Given the description of an element on the screen output the (x, y) to click on. 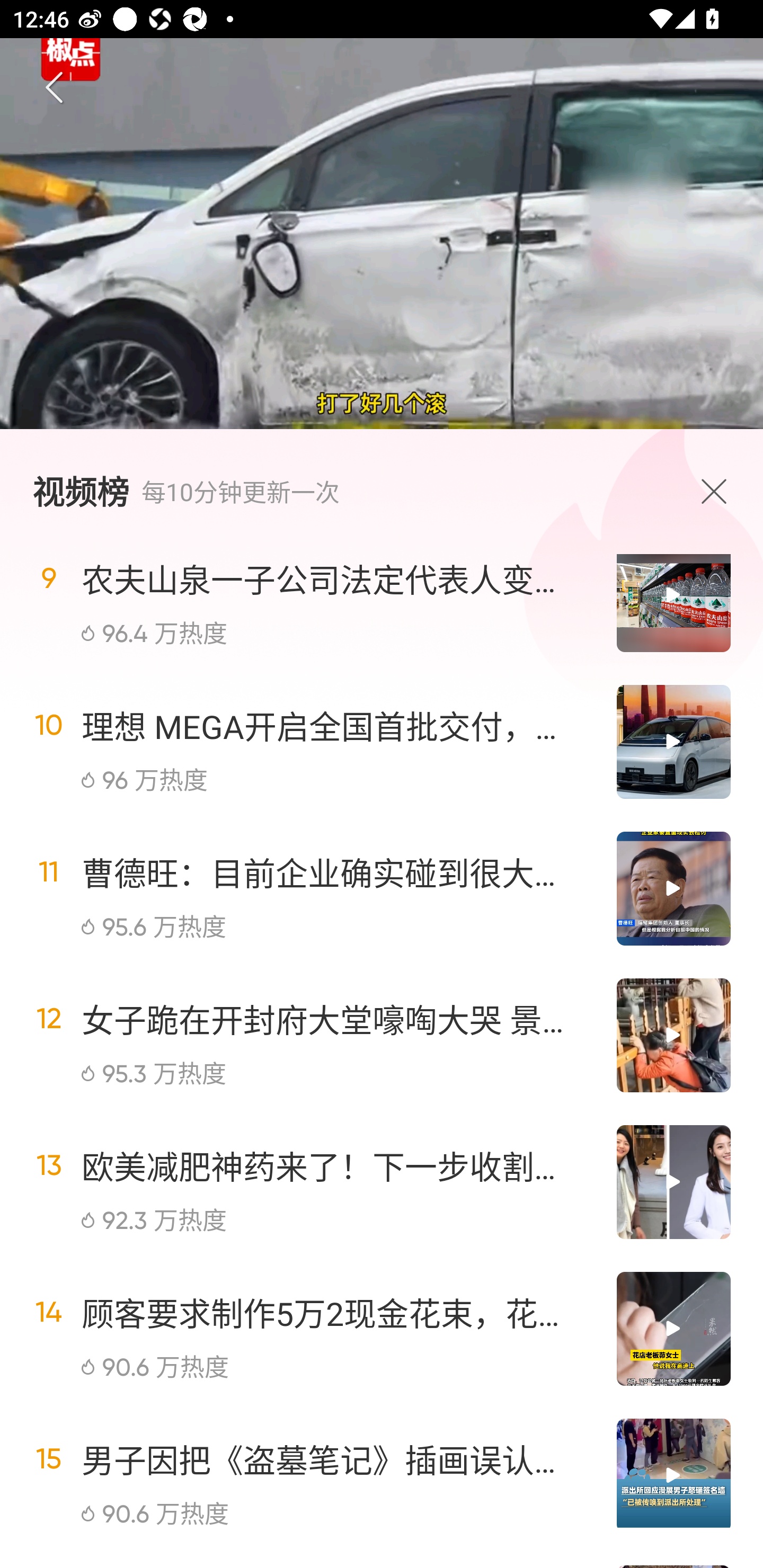
 返回 (54, 87)
 (718, 491)
9 农夫山泉一子公司法定代表人变更，钟睒睒卸任 96.4 万热度 (381, 610)
10 理想 MEGA开启全国首批交付，有谁今天提车了？ 96 万热度 (381, 741)
11 曹德旺：目前企业确实碰到很大麻烦，企业家要直面现实去检讨 95.6 万热度 (381, 888)
12 女子跪在开封府大堂嚎啕大哭 景区：可能心里有委屈 95.3 万热度 (381, 1035)
13 欧美减肥神药来了！下一步收割胖子？ 92.3 万热度 (381, 1181)
14 顾客要求制作5万2现金花束，花店老板竟成了“洗钱帮凶” 90.6 万热度 (381, 1328)
椒点视频 (321, 1373)
